Given the description of an element on the screen output the (x, y) to click on. 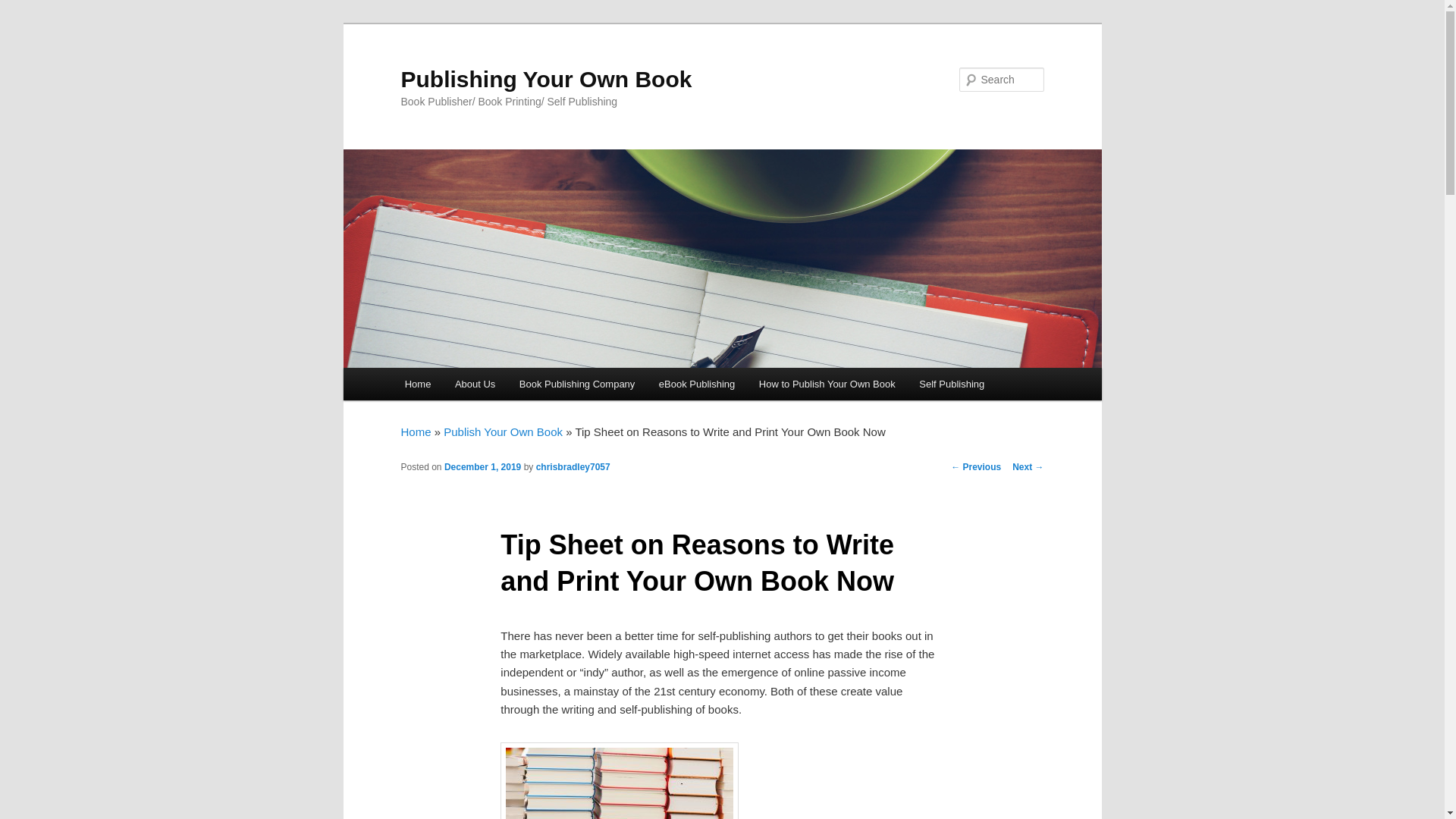
Search (24, 8)
View all posts by chrisbradley7057 (572, 466)
chrisbradley7057 (572, 466)
Publish Your Own Book (503, 431)
December 1, 2019 (482, 466)
About Us (474, 383)
Self Publishing (951, 383)
Publishing Your Own Book (545, 78)
Home (417, 383)
